Given the description of an element on the screen output the (x, y) to click on. 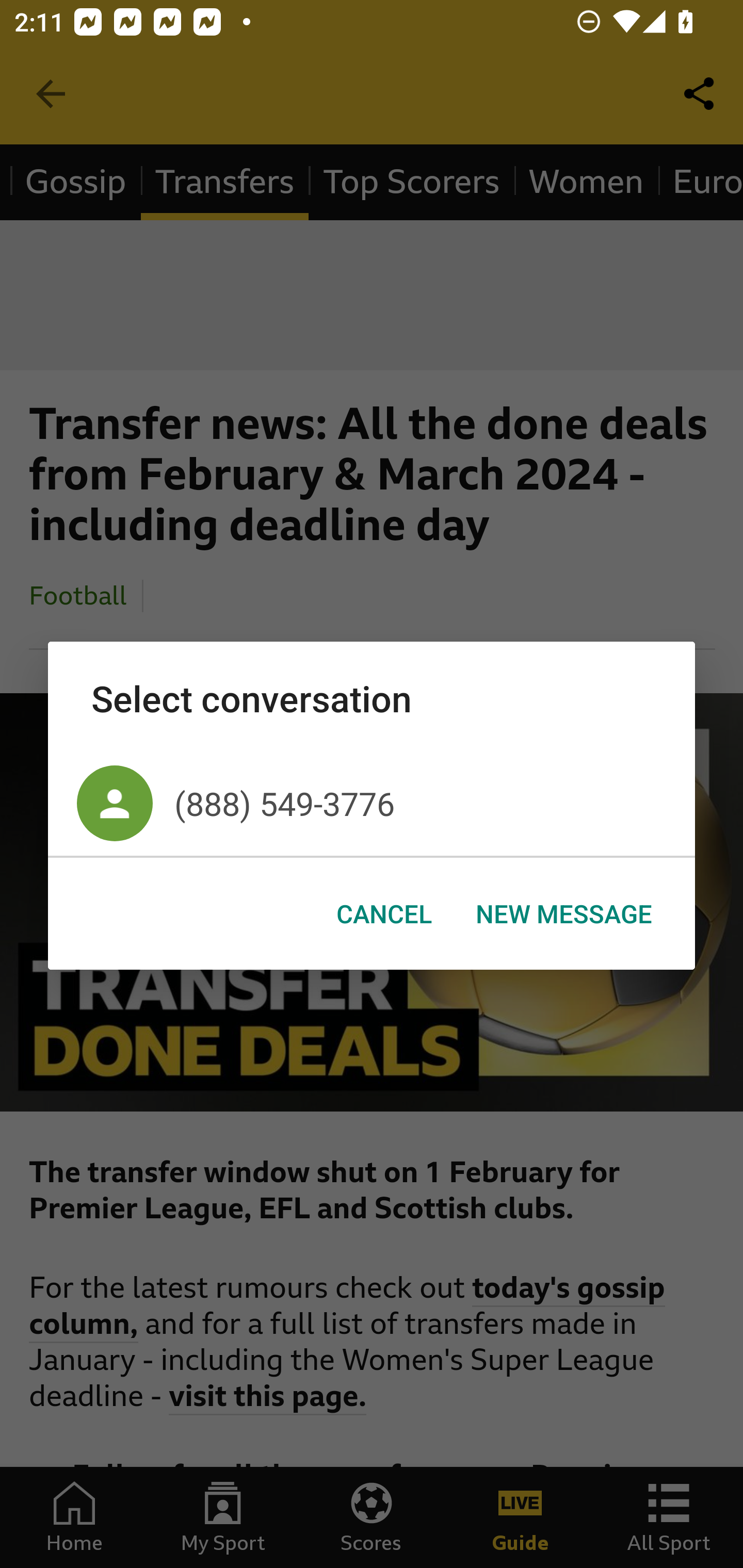
CANCEL (384, 913)
NEW MESSAGE (563, 913)
